Given the description of an element on the screen output the (x, y) to click on. 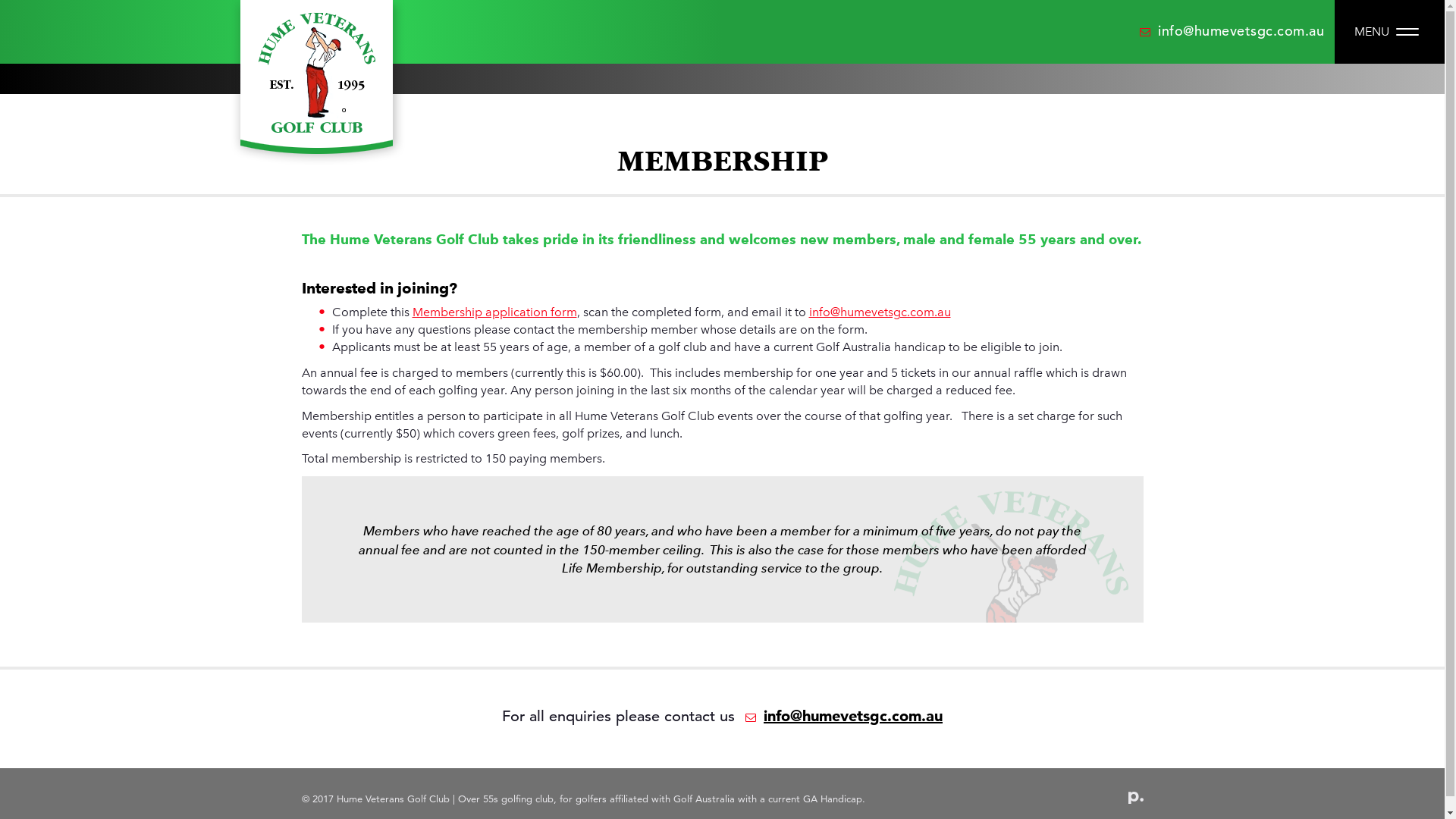
info@humevetsgc.com.au Element type: text (1231, 30)
info@humevetsgc.com.au Element type: text (840, 716)
Membership application form Element type: text (494, 311)
info@humevetsgc.com.au Element type: text (879, 311)
